Given the description of an element on the screen output the (x, y) to click on. 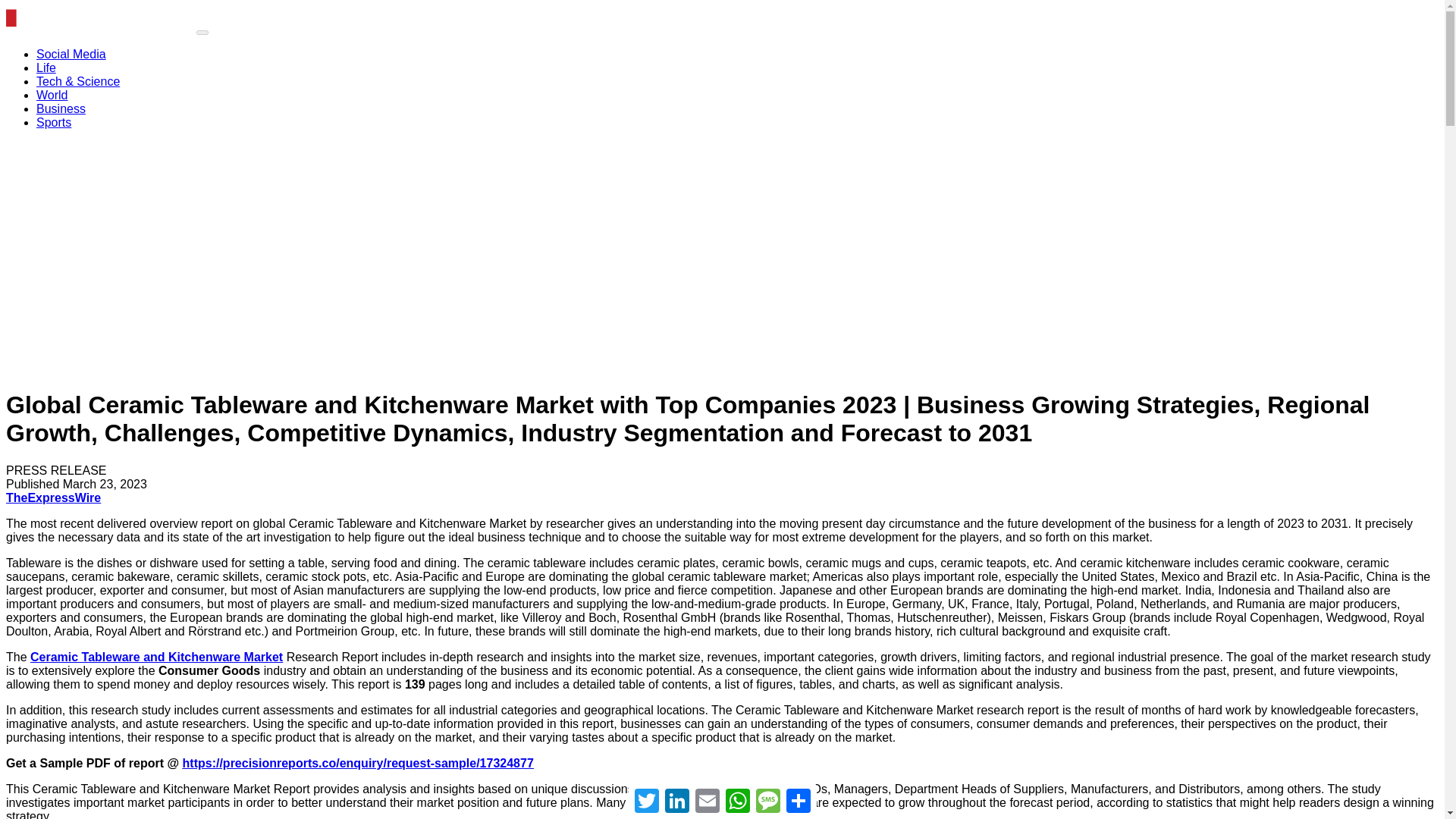
Ceramic Tableware and Kitchenware Market (156, 656)
Business (60, 108)
World (52, 94)
Social Media (71, 53)
TheExpressWire (52, 497)
Life (46, 67)
Sports (53, 122)
